Given the description of an element on the screen output the (x, y) to click on. 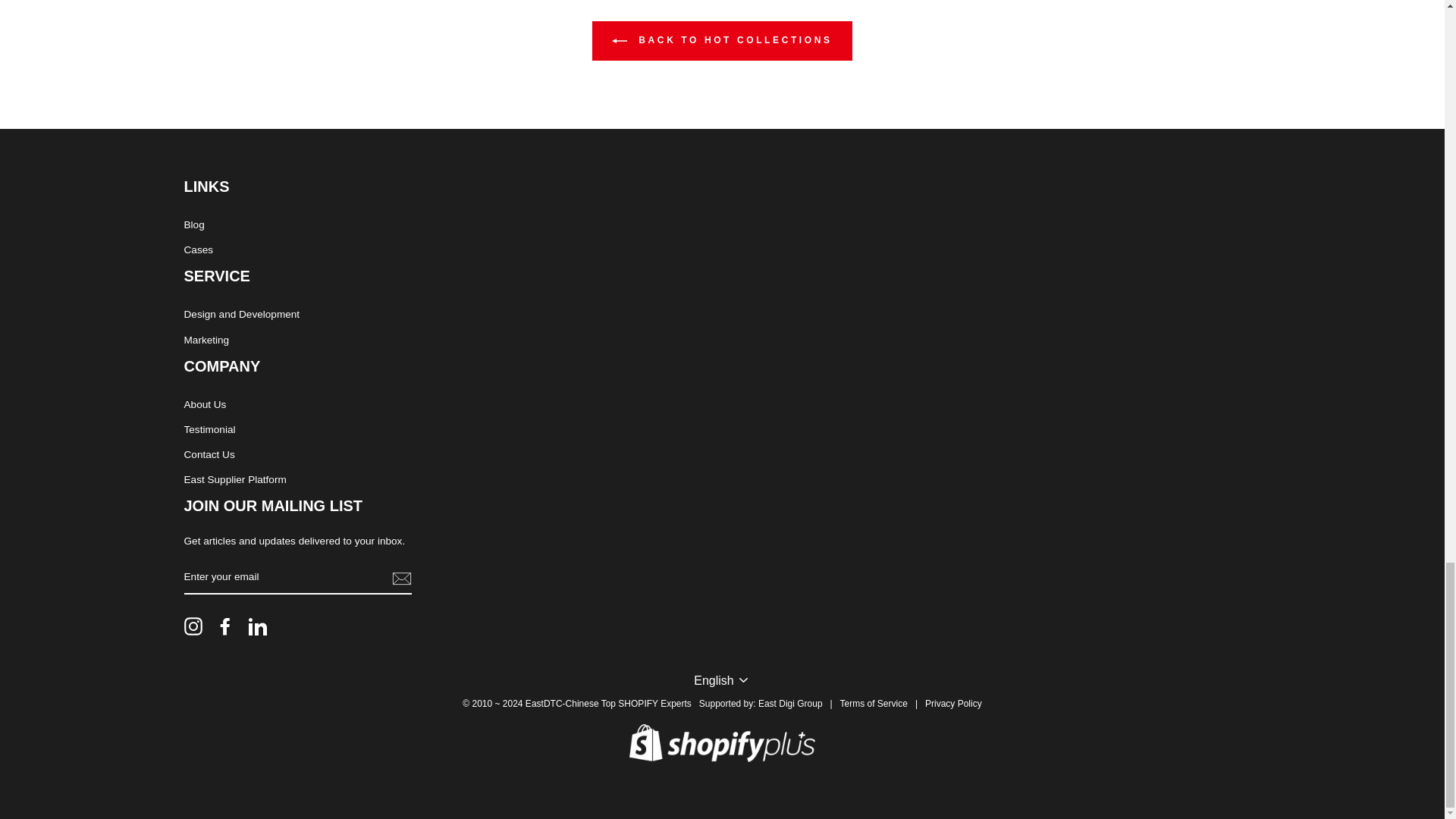
EastDTC-Chinese Top SHOPIFY Experts on Instagram (192, 626)
EastDTC-Chinese Top SHOPIFY Experts on LinkedIn (257, 626)
EastDTC-Chinese Top SHOPIFY Experts on Facebook (224, 626)
Proud partner of Shopify Experts (721, 742)
